Given the description of an element on the screen output the (x, y) to click on. 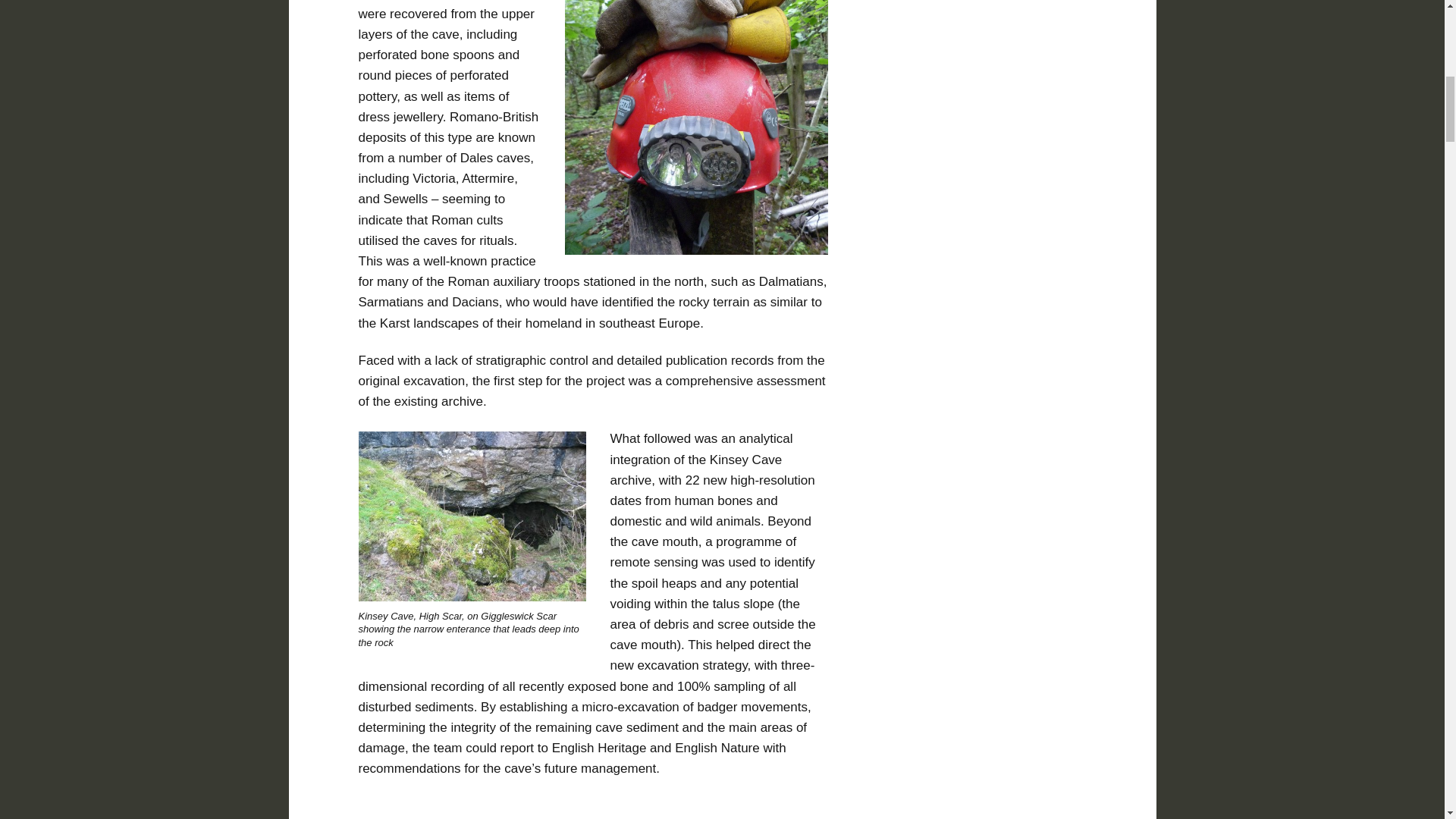
Cave Archaeology - Hat and Gloves (696, 127)
Kinsey Cave, High Scar, on Giggleswick Scar (471, 516)
